Given the description of an element on the screen output the (x, y) to click on. 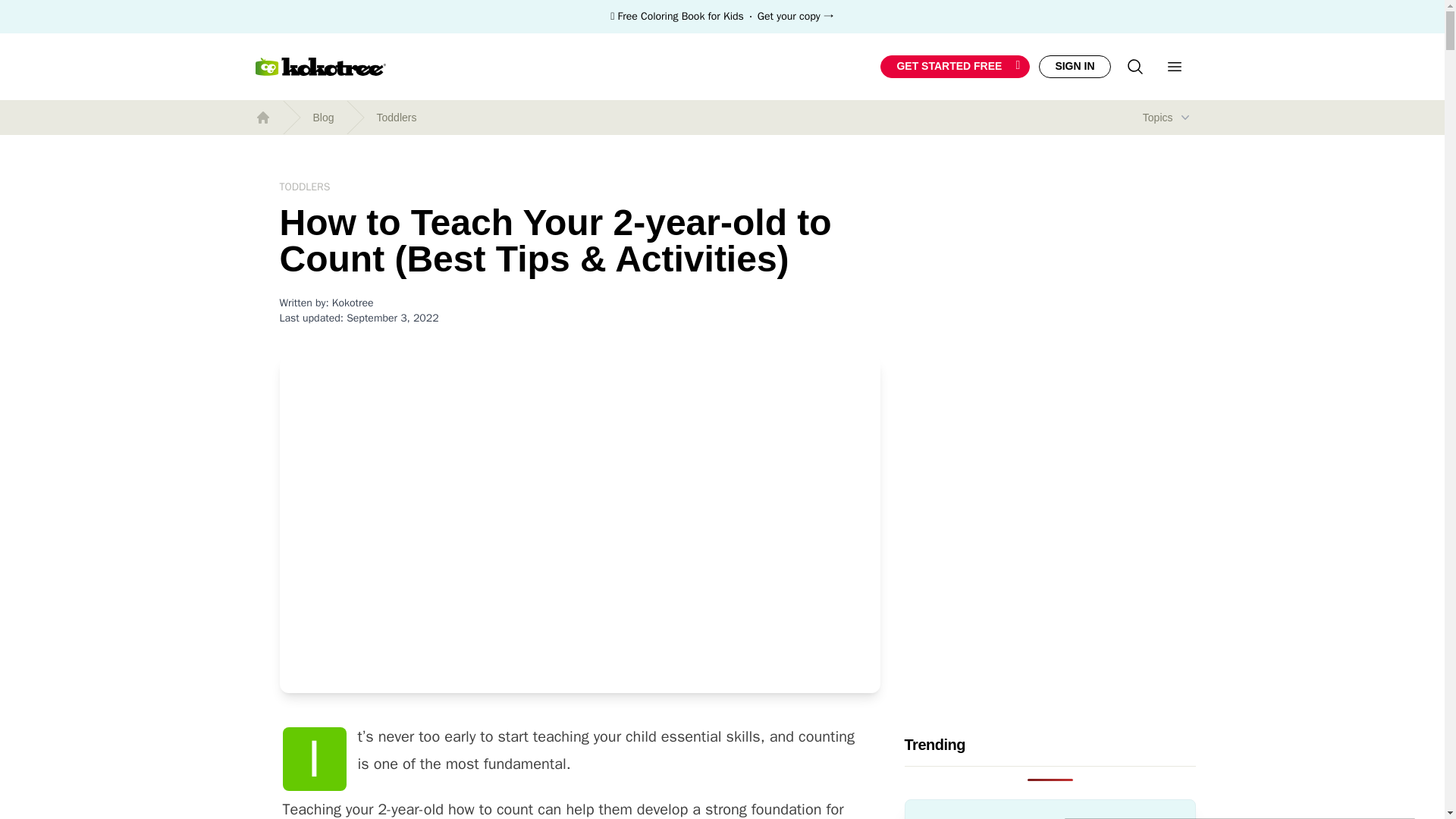
Open menu (1173, 66)
Toddlers (396, 117)
Home (261, 117)
Topics (1165, 117)
Search (1134, 66)
Blog (323, 117)
SIGN IN (1074, 65)
TODDLERS (304, 186)
